Given the description of an element on the screen output the (x, y) to click on. 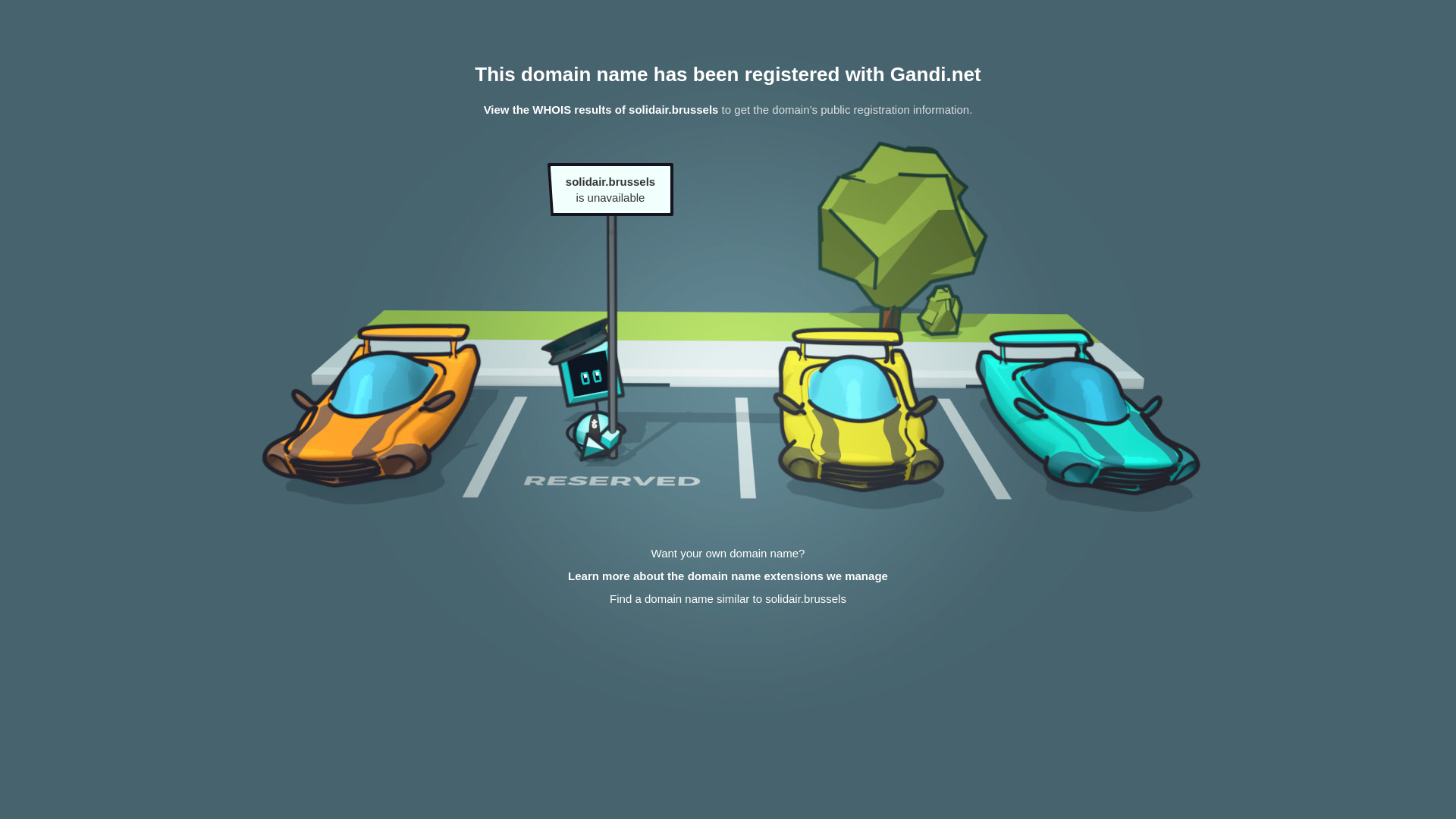
Find a domain name similar to solidair.brussels Element type: text (727, 598)
Learn more about the domain name extensions we manage Element type: text (727, 575)
View the WHOIS results of solidair.brussels Element type: text (600, 109)
